Given the description of an element on the screen output the (x, y) to click on. 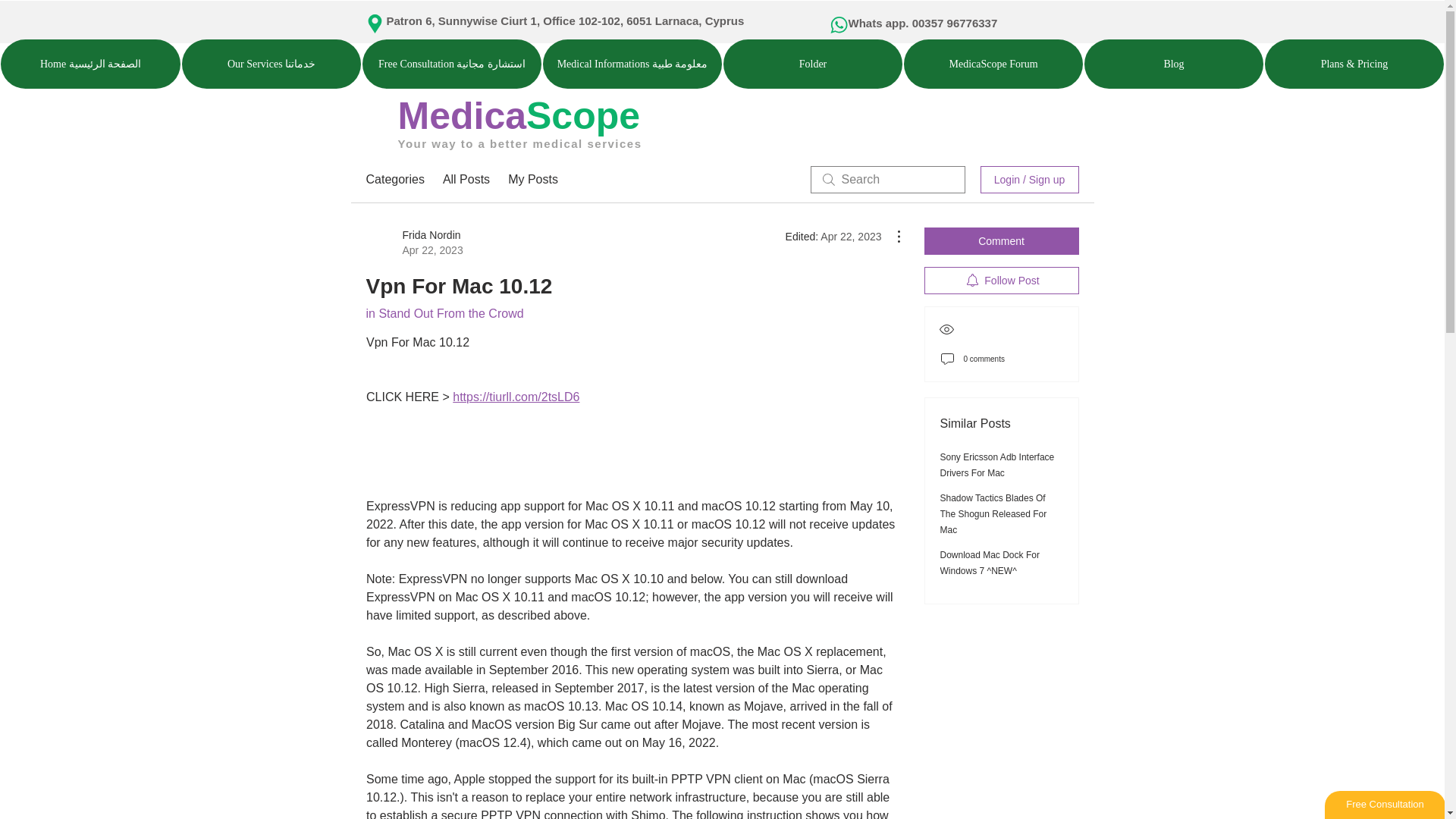
Categories (394, 179)
My Posts (532, 179)
Shadow Tactics Blades Of The Shogun Released For Mac (993, 514)
Sony Ericsson Adb Interface Drivers For Mac (997, 465)
Your (411, 143)
in Stand Out From the Crowd (443, 313)
Comment (1000, 240)
Follow Post (1000, 280)
All Posts (465, 179)
Blog (1173, 63)
